Given the description of an element on the screen output the (x, y) to click on. 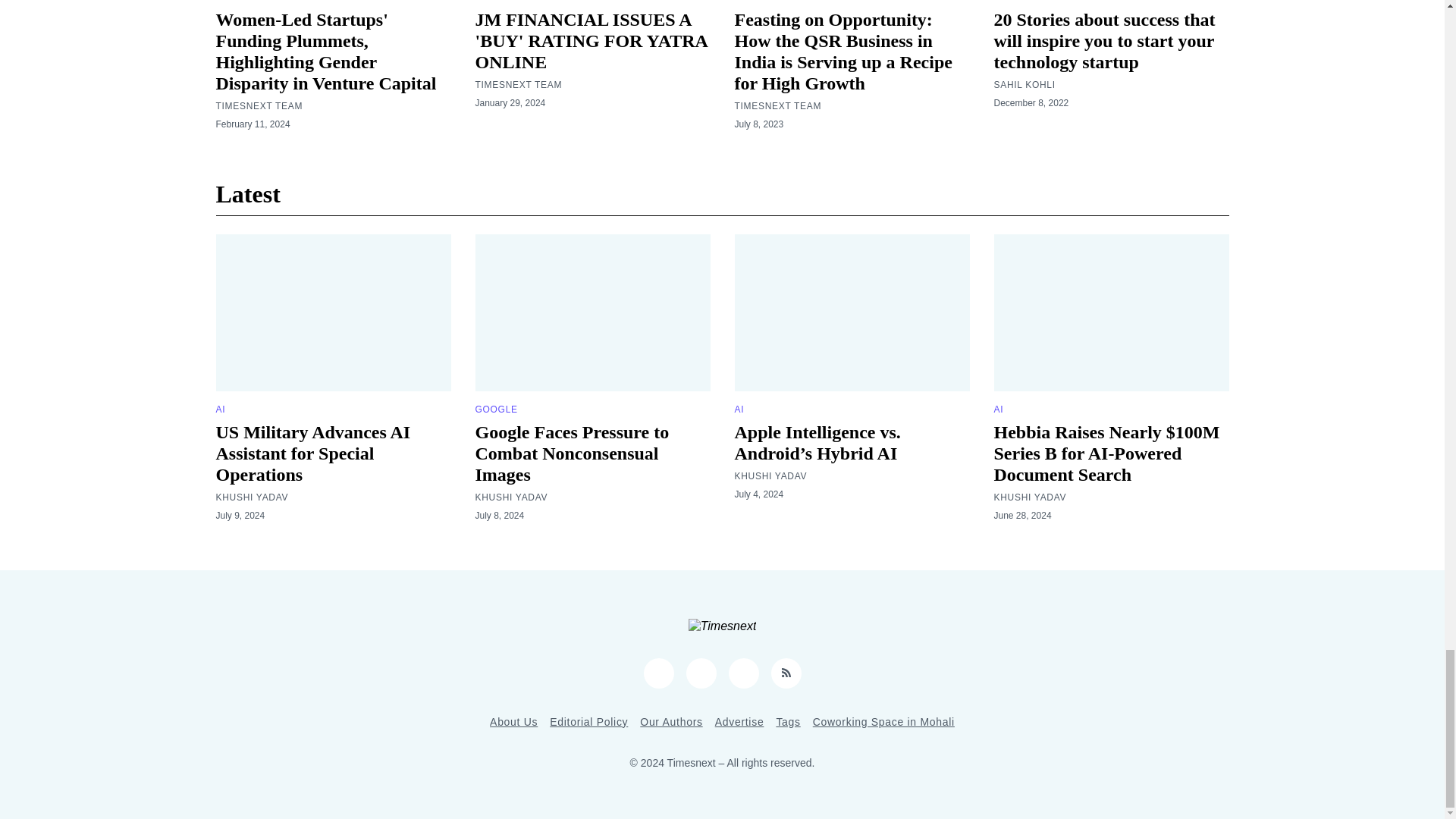
STARTUP NEWS (253, 1)
INDIA (747, 1)
JM FINANCIAL ISSUES A 'BUY' RATING FOR YATRA ONLINE (590, 40)
BUSINESS (499, 1)
TIMESNEXT TEAM (518, 84)
TIMESNEXT TEAM (258, 105)
